Given the description of an element on the screen output the (x, y) to click on. 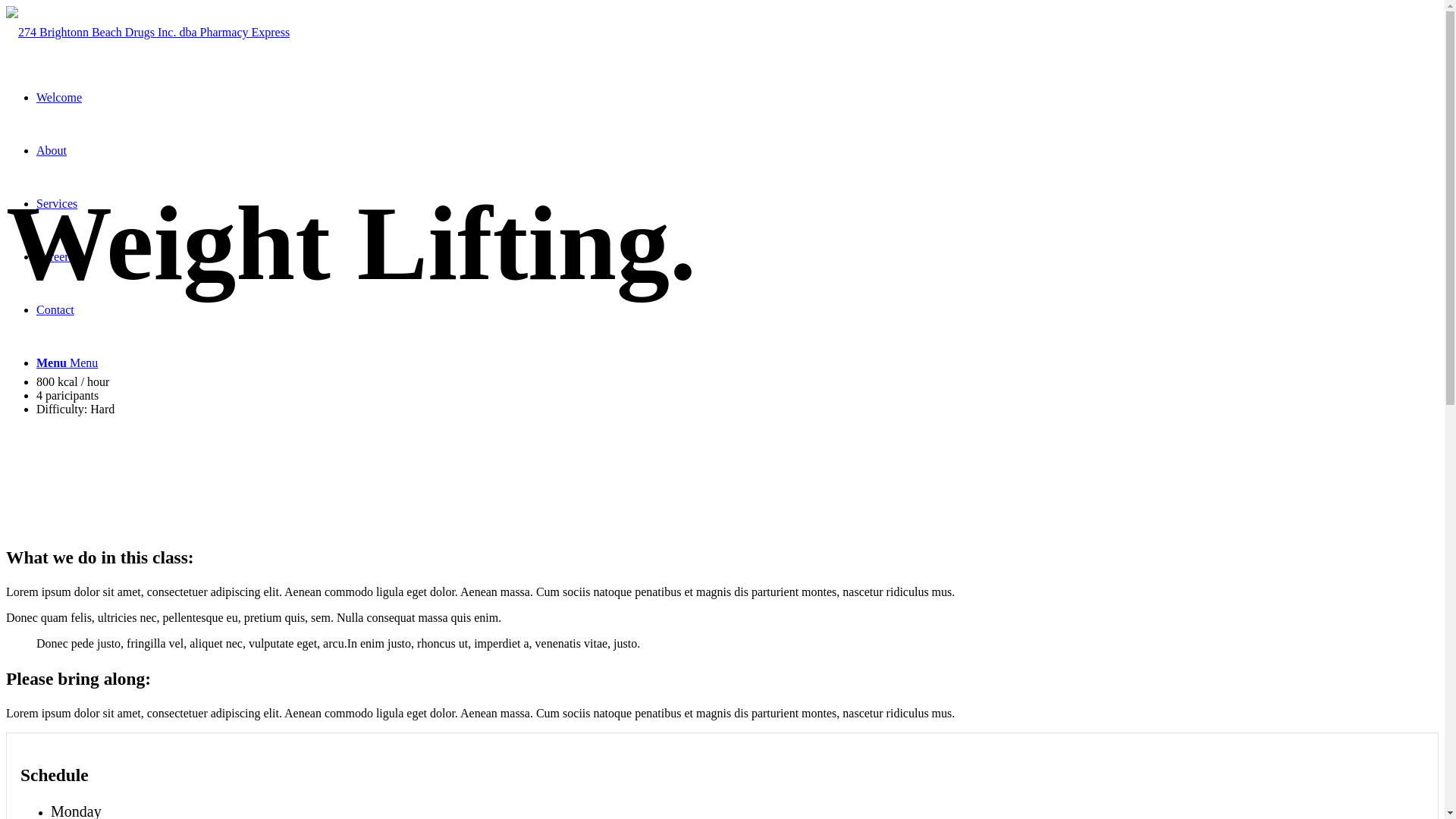
Contact Element type: text (55, 309)
Welcome Element type: text (58, 97)
Services Element type: text (56, 203)
About Element type: text (51, 150)
Careers Element type: text (54, 256)
Menu Menu Element type: text (66, 362)
